Given the description of an element on the screen output the (x, y) to click on. 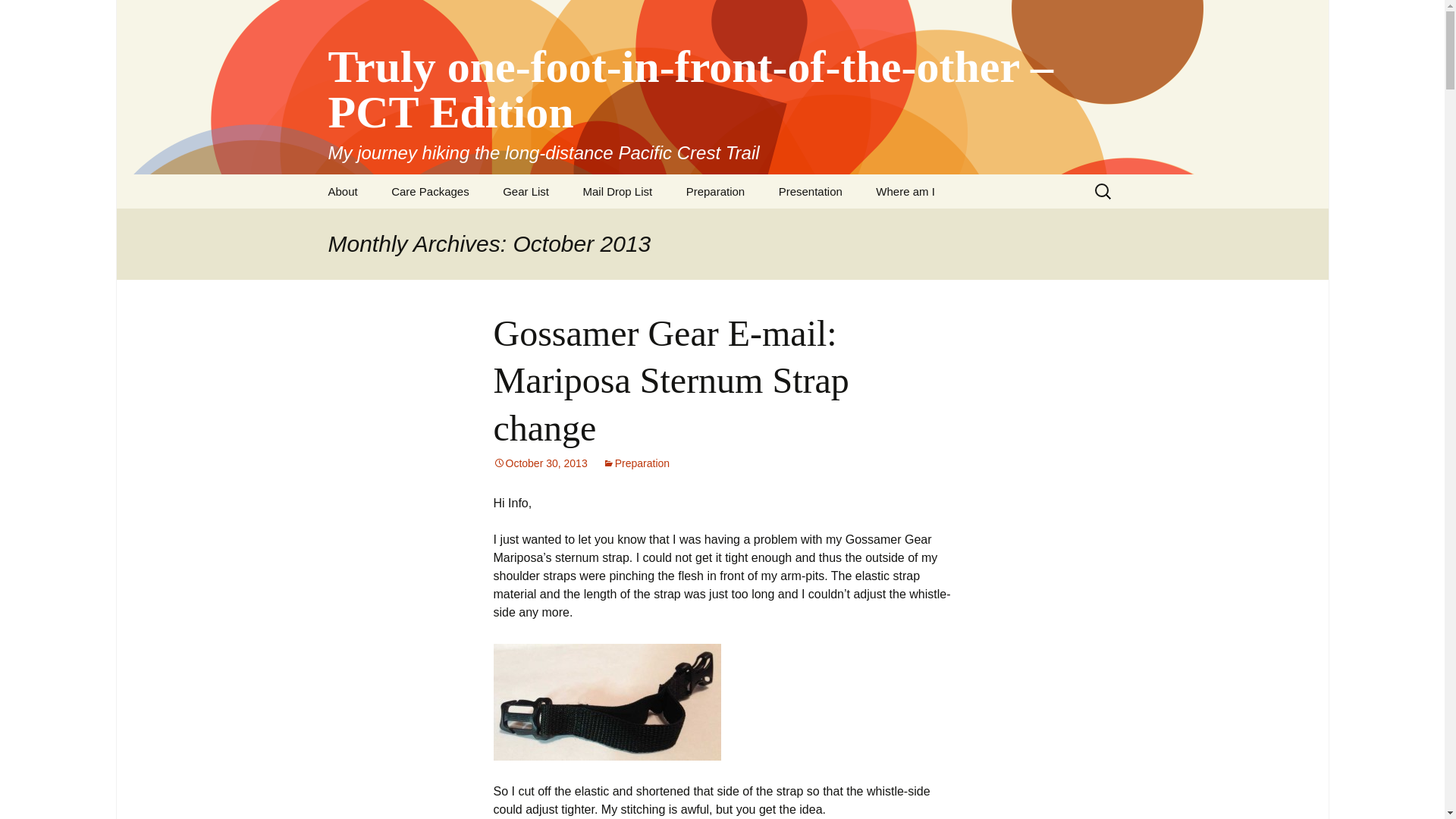
Presentation (809, 191)
Where am I (905, 191)
October 30, 2013 (539, 463)
Preparation (715, 191)
Gear List (525, 191)
Preparation (635, 463)
Gossamer Gear E-mail: Mariposa Sternum Strap change (670, 379)
